Given the description of an element on the screen output the (x, y) to click on. 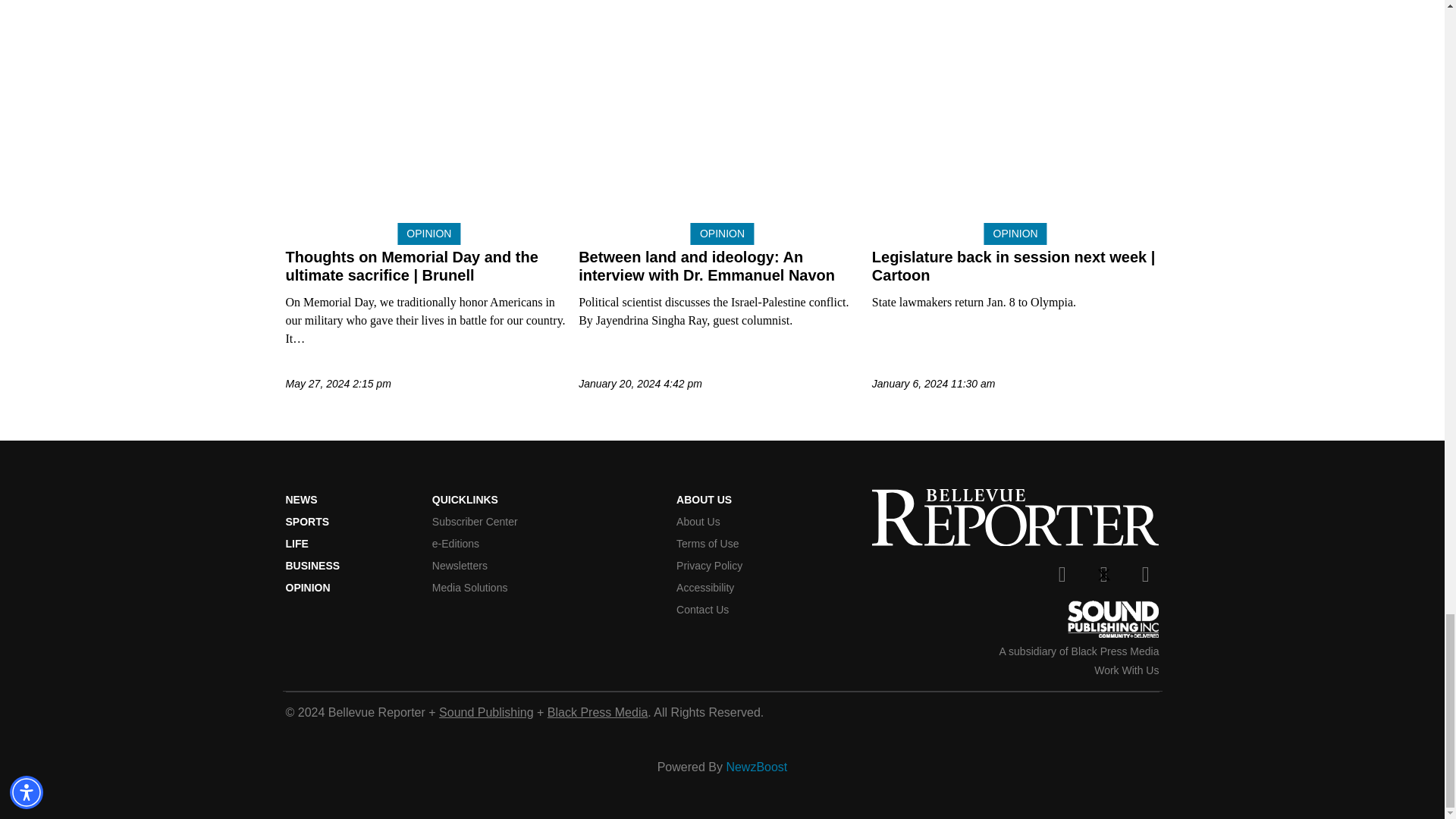
bel-logo.svg (1015, 517)
